Given the description of an element on the screen output the (x, y) to click on. 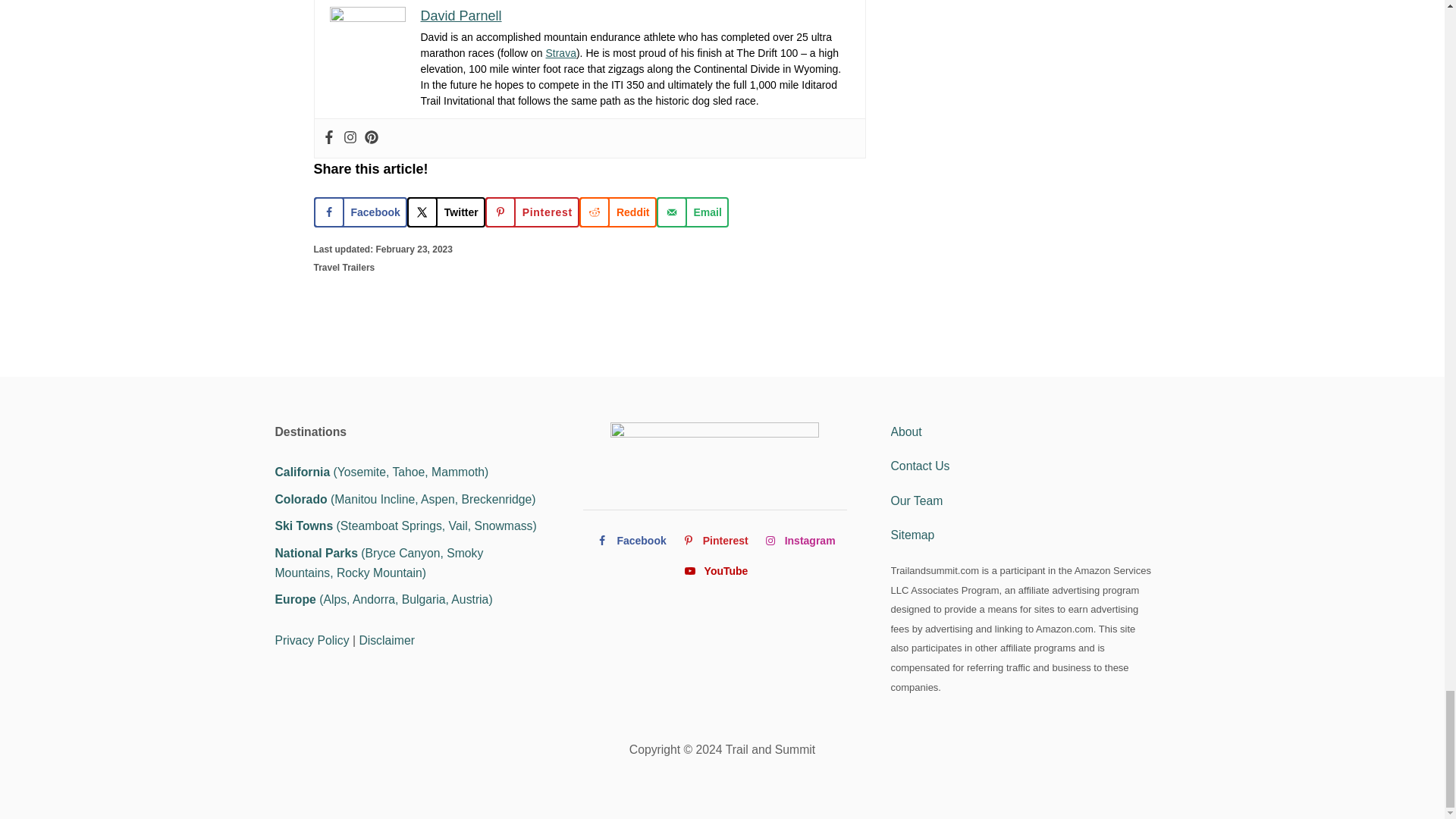
Follow on Facebook (629, 540)
Disclaimer (386, 640)
Strava (559, 52)
Save to Pinterest (531, 212)
Privacy Policy (312, 640)
Send over email (692, 212)
Travel Trailers (344, 267)
Reddit (617, 212)
Share on Reddit (617, 212)
Follow on Instagram (799, 540)
David Parnell (460, 15)
Pinterest (531, 212)
Share on X (445, 212)
Share on Facebook (360, 212)
Twitter (445, 212)
